Given the description of an element on the screen output the (x, y) to click on. 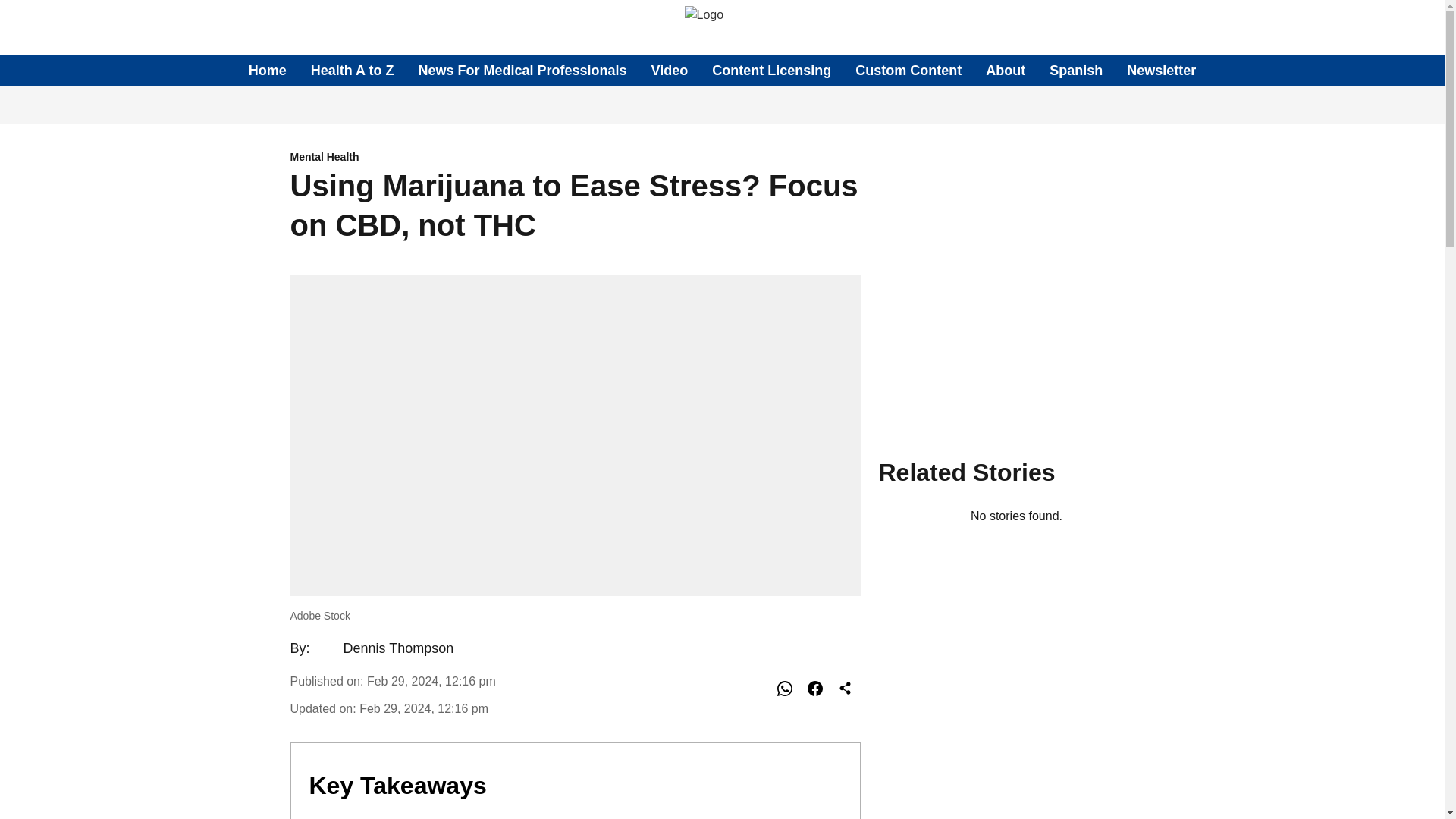
Home (267, 70)
Health A to Z (352, 70)
2024-02-29 12:16 (423, 707)
2024-02-29 12:16 (431, 680)
